Given the description of an element on the screen output the (x, y) to click on. 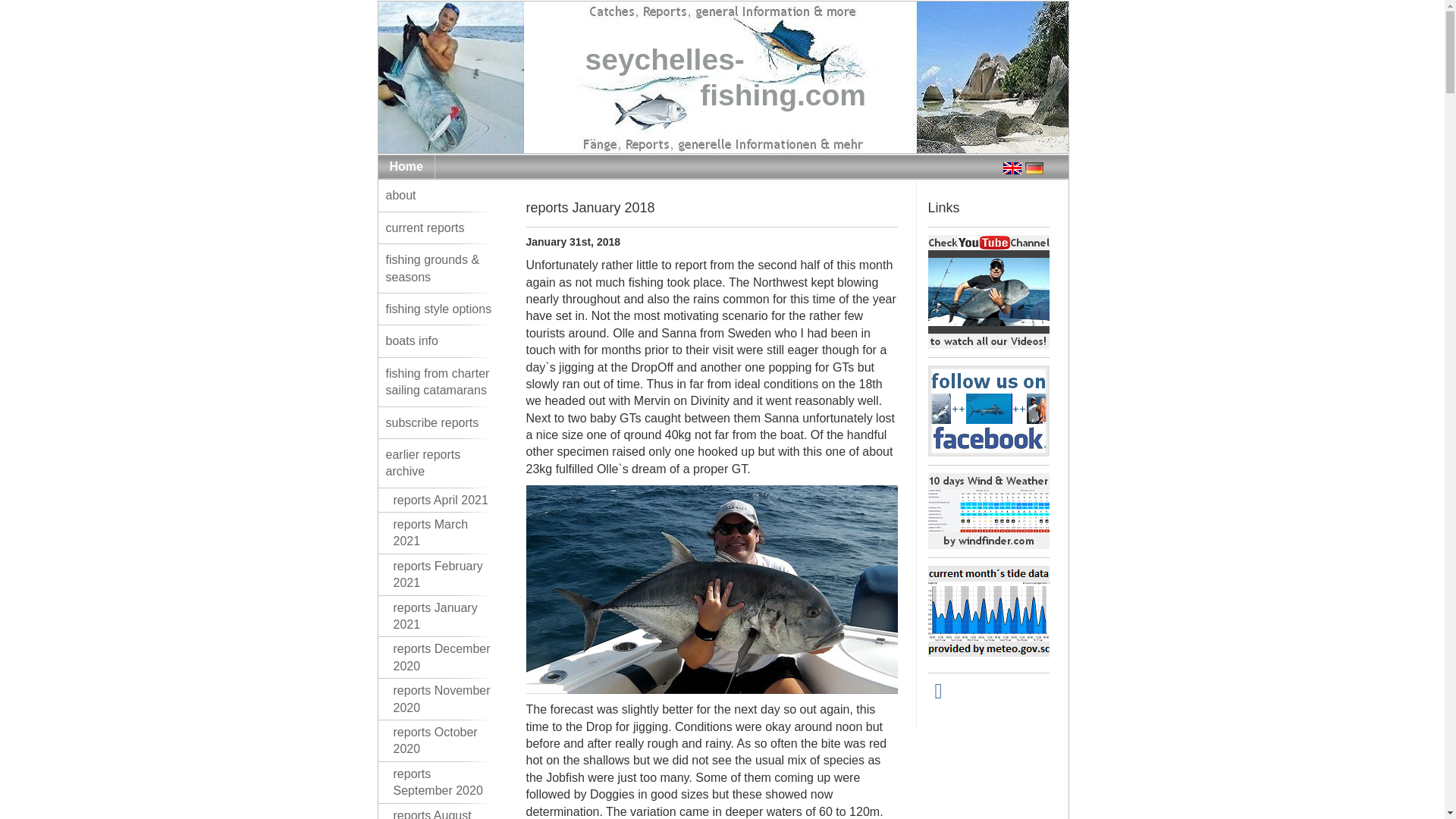
reports April 2021 (441, 500)
reports September 2020 (441, 782)
reports March 2021 (441, 533)
reports November 2020 (441, 699)
reports August 2020 (722, 77)
subscribe reports (441, 811)
reports February 2021 (441, 422)
Deutsch (441, 575)
Facebook (1034, 168)
fishing from charter sailing catamarans (938, 690)
current reports (441, 382)
reports December 2020 (441, 228)
boats info (441, 657)
reports January 2021 (441, 341)
